Given the description of an element on the screen output the (x, y) to click on. 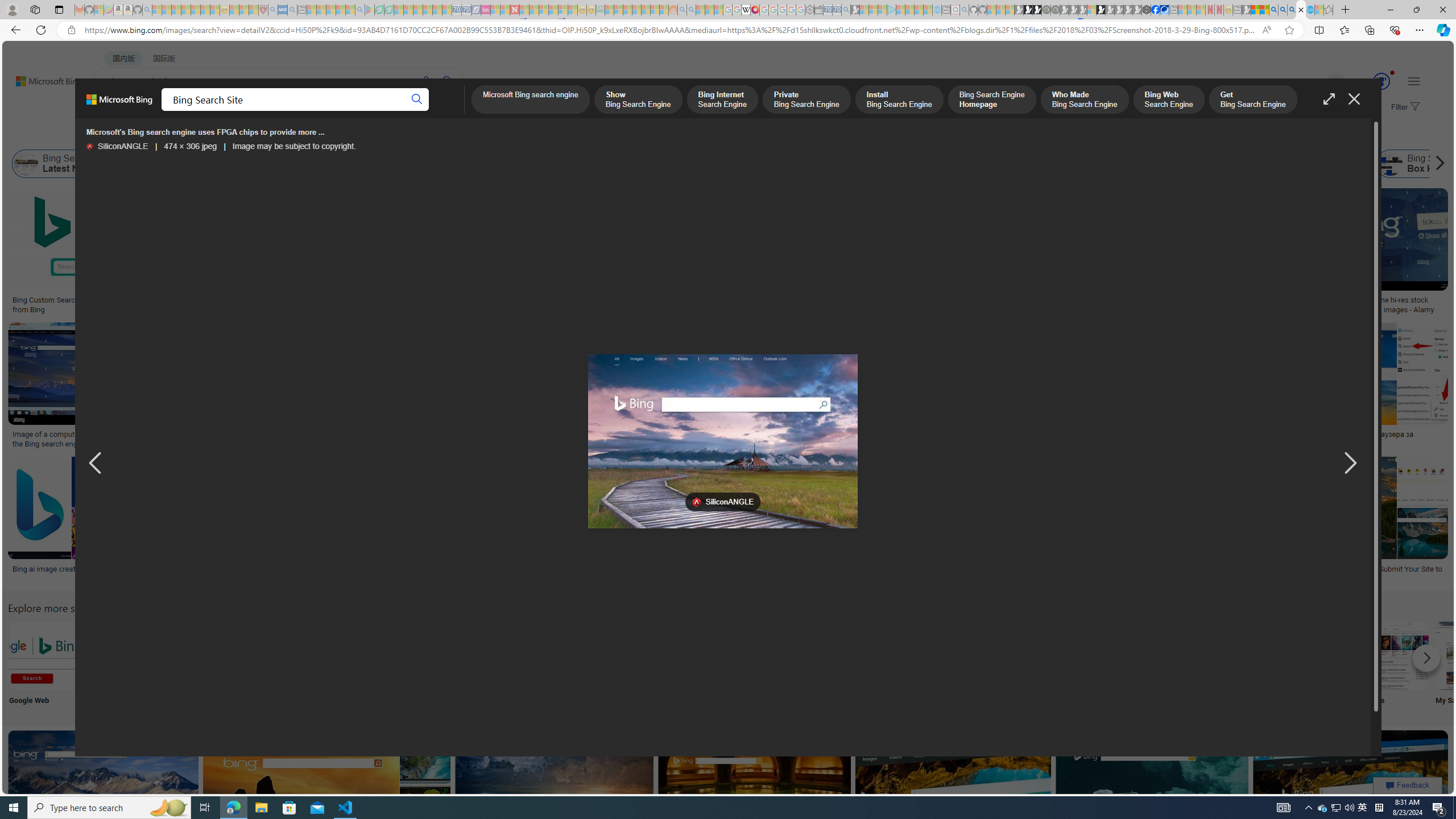
Old Bing (925, 163)
Bing Search Engine Homepage (1102, 163)
Cheap Car Rentals - Save70.com - Sleeping (836, 9)
Layout (253, 135)
github - Search - Sleeping (964, 9)
Bing Search Settings Settings (1243, 665)
Search (416, 99)
Bing Hoodies (802, 261)
Who Made Bing Search Engine (974, 163)
